Given the description of an element on the screen output the (x, y) to click on. 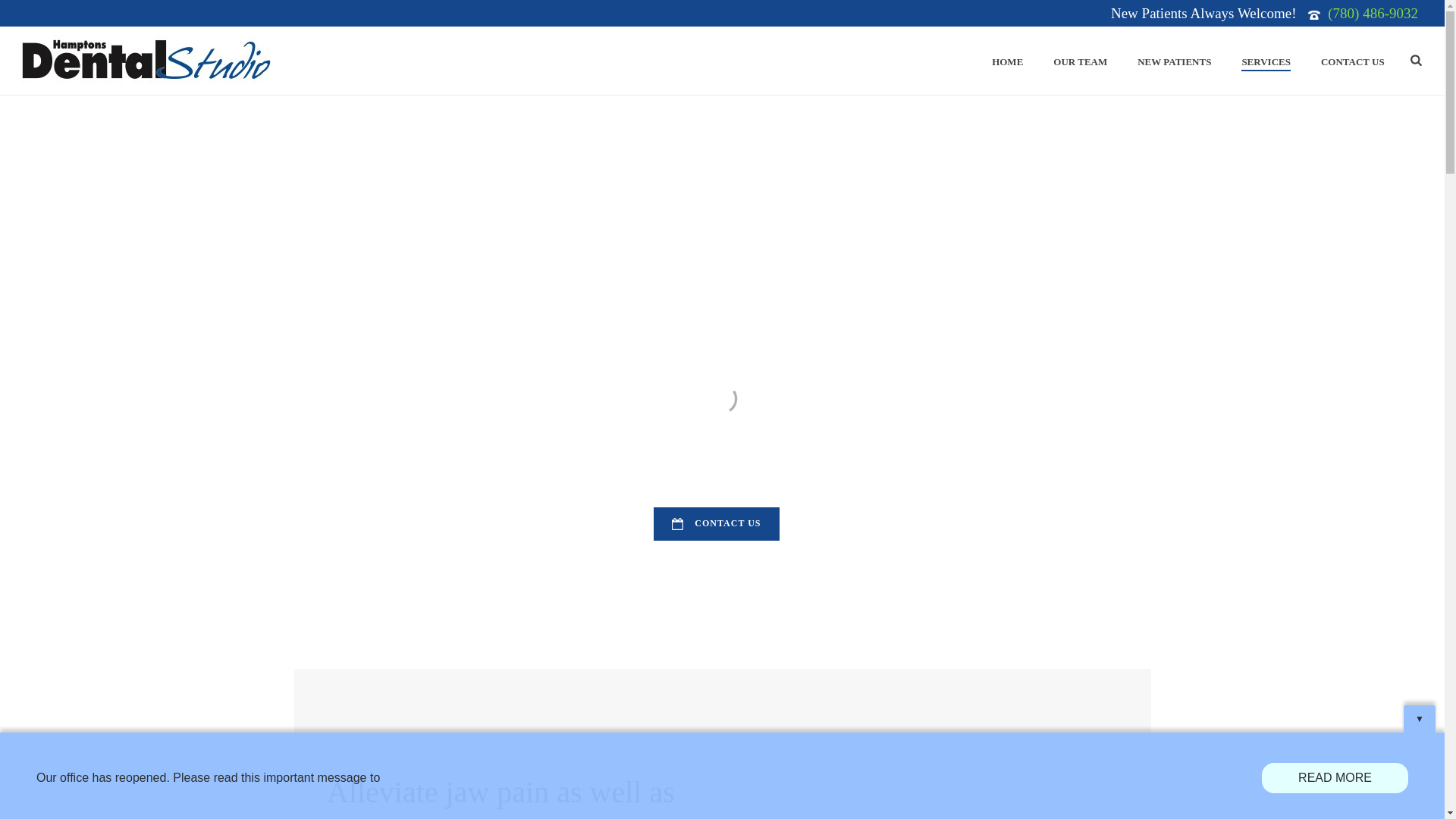
SERVICES (1265, 62)
NEW PATIENTS (1173, 62)
SERVICES (1265, 62)
HOME (1007, 62)
OUR TEAM (1080, 62)
CONTACT US (1352, 62)
CONTACT US (715, 523)
HOME (1007, 62)
OUR TEAM (1080, 62)
CONTACT US (1352, 62)
